Given the description of an element on the screen output the (x, y) to click on. 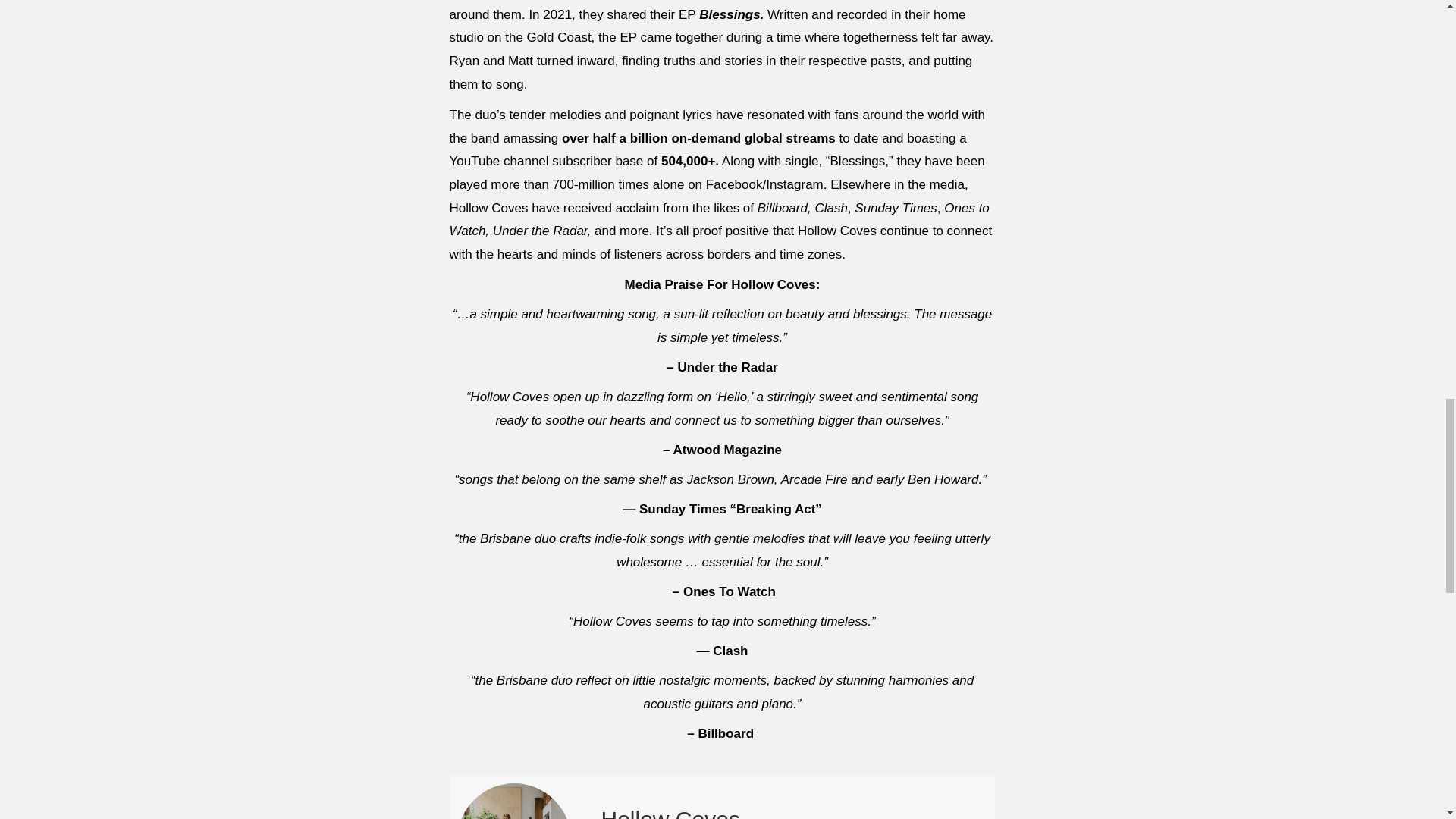
Hollow Coves (669, 812)
Hollow Coves (669, 812)
